Given the description of an element on the screen output the (x, y) to click on. 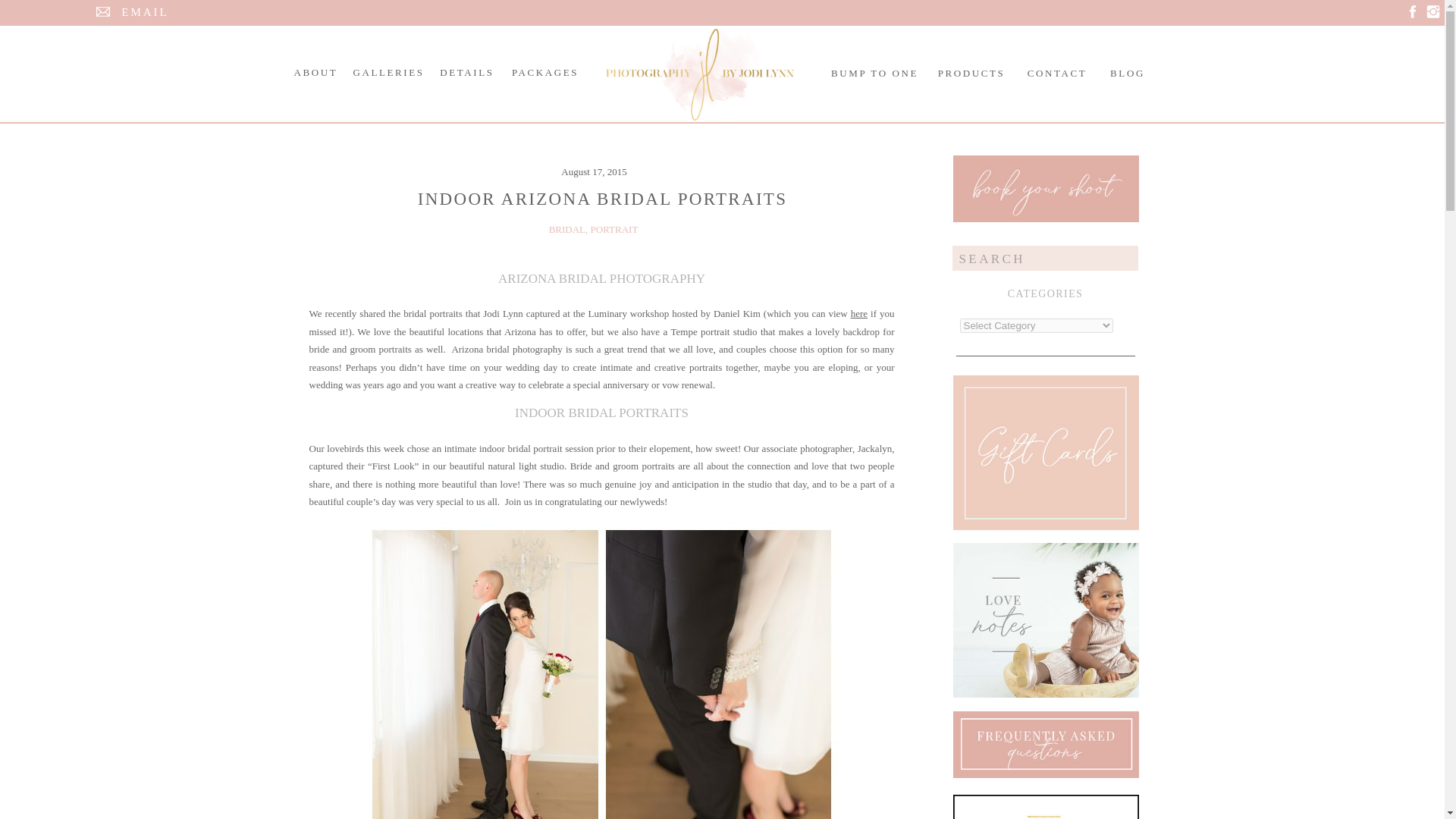
here (858, 313)
BUMP TO ONE (874, 72)
CONTACT (1056, 72)
PRODUCTS (971, 72)
EMAIL (144, 12)
ABOUT (315, 72)
BRIDAL (566, 229)
PORTRAIT (615, 229)
GALLERIES (389, 72)
PACKAGES (544, 72)
DETAILS (466, 72)
BLOG (1126, 72)
